Given the description of an element on the screen output the (x, y) to click on. 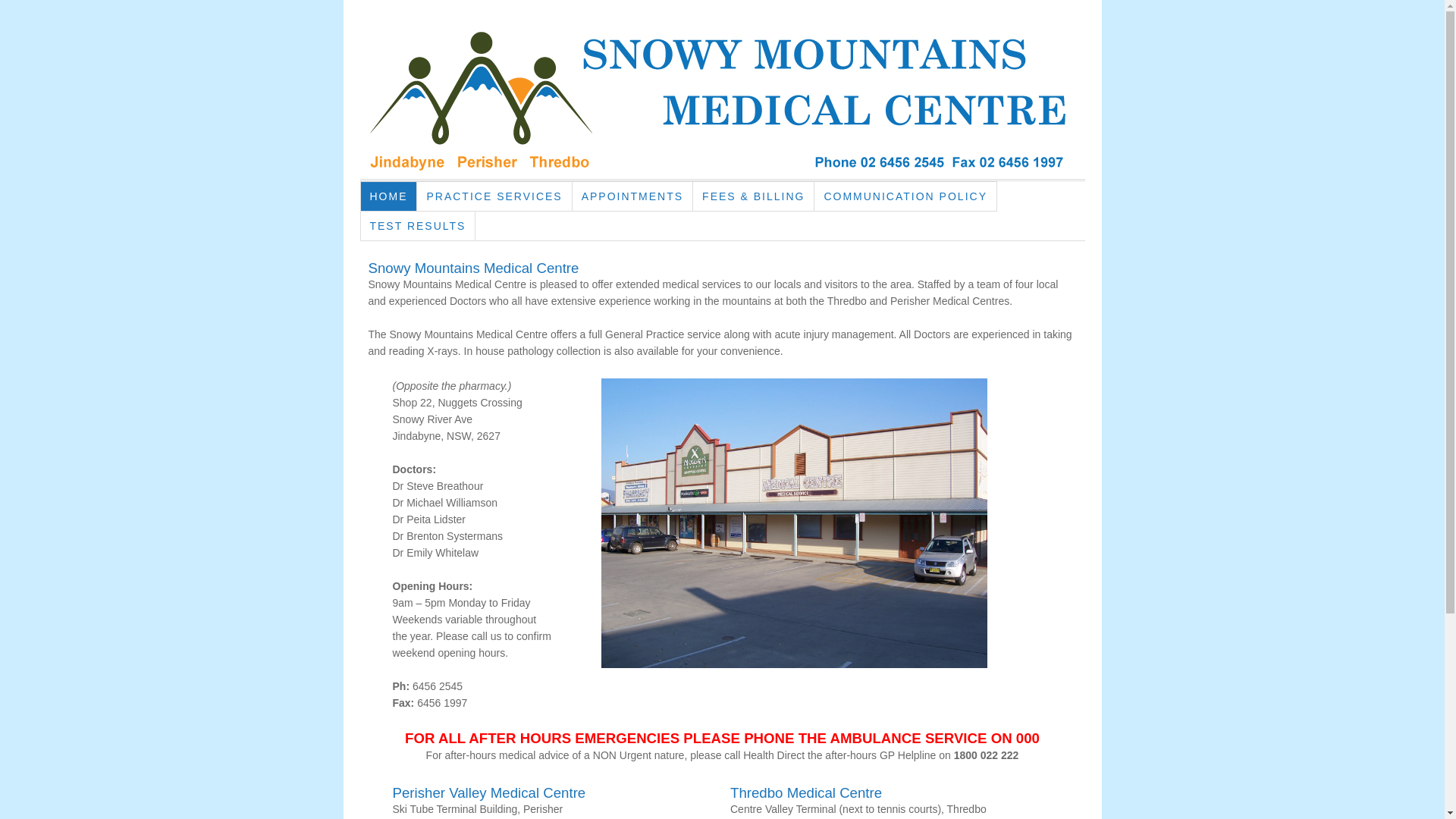
COMMUNICATION POLICY Element type: text (905, 196)
PRACTICE SERVICES Element type: text (494, 196)
TEST RESULTS Element type: text (418, 225)
FEES & BILLING Element type: text (753, 196)
HOME Element type: text (388, 196)
APPOINTMENTS Element type: text (632, 196)
